Given the description of an element on the screen output the (x, y) to click on. 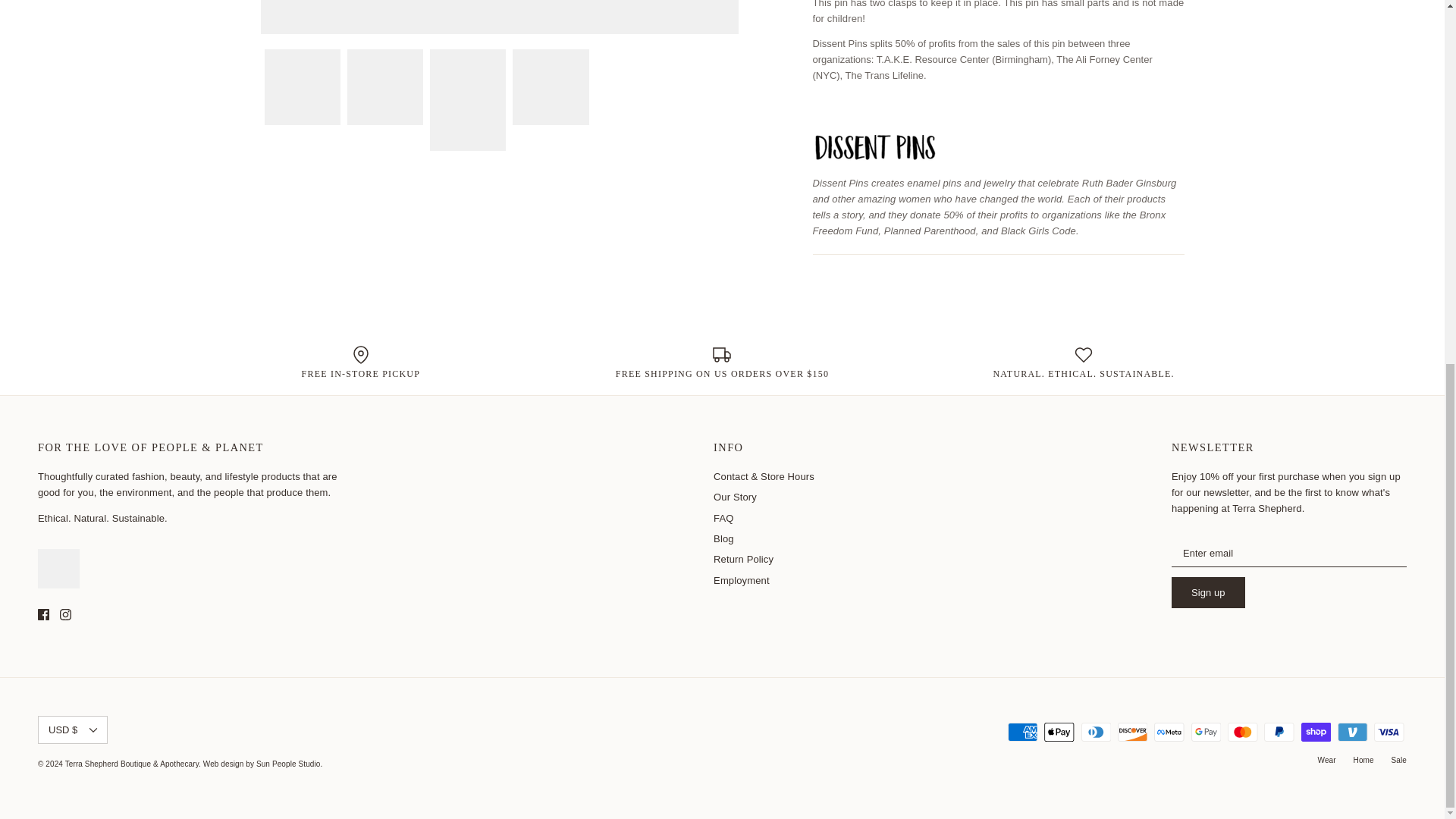
American Express (1022, 732)
Facebook (43, 614)
Diners Club (1095, 732)
Meta Pay (1168, 732)
Apple Pay (1058, 732)
Discover (1132, 732)
Instagram (65, 614)
